Given the description of an element on the screen output the (x, y) to click on. 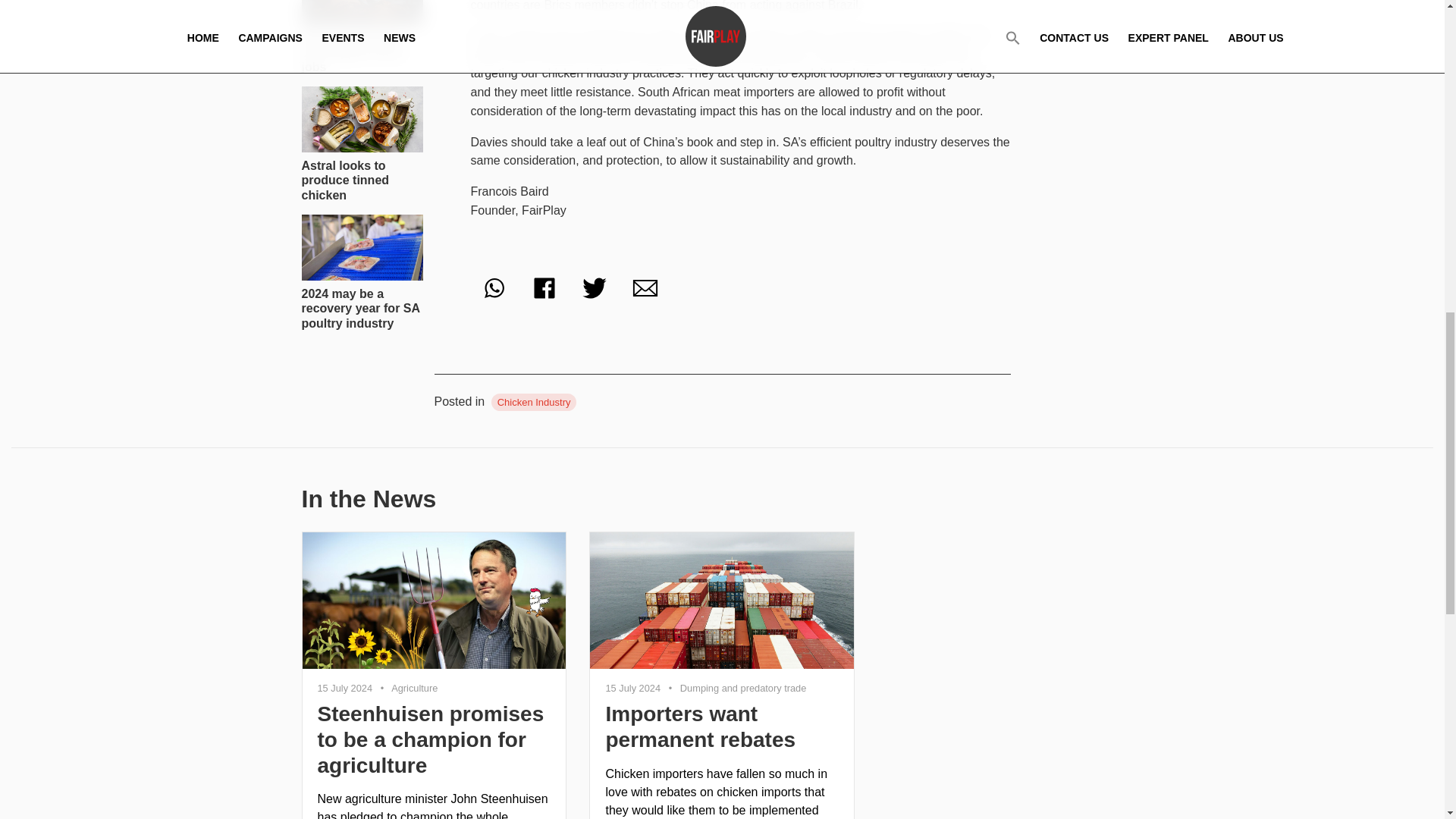
Tweet (593, 288)
Chicken Industry (534, 402)
2024 may be a recovery year for SA poultry industry (362, 272)
Eat local chicken and support local jobs (362, 37)
Astral looks to produce tinned chicken (362, 144)
WhatsApp this (493, 288)
Email (644, 288)
Share on Facebook (544, 288)
